Given the description of an element on the screen output the (x, y) to click on. 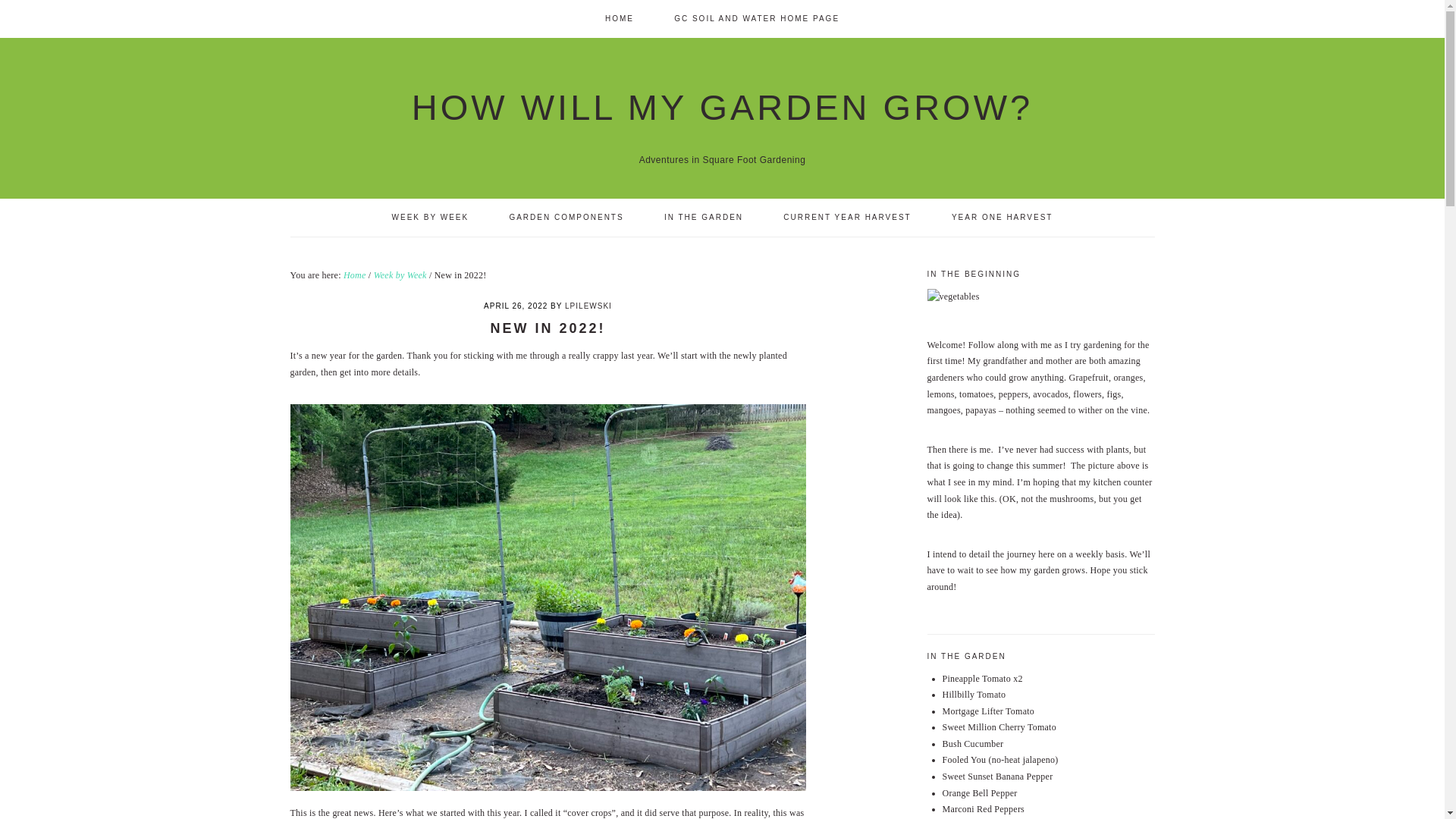
Home (354, 275)
YEAR ONE HARVEST (1002, 217)
GARDEN COMPONENTS (565, 217)
GC SOIL AND WATER HOME PAGE (757, 18)
HOW WILL MY GARDEN GROW? (722, 106)
LPILEWSKI (587, 306)
Week by Week (400, 275)
IN THE GARDEN (703, 217)
WEEK BY WEEK (429, 217)
CURRENT YEAR HARVEST (847, 217)
